Given the description of an element on the screen output the (x, y) to click on. 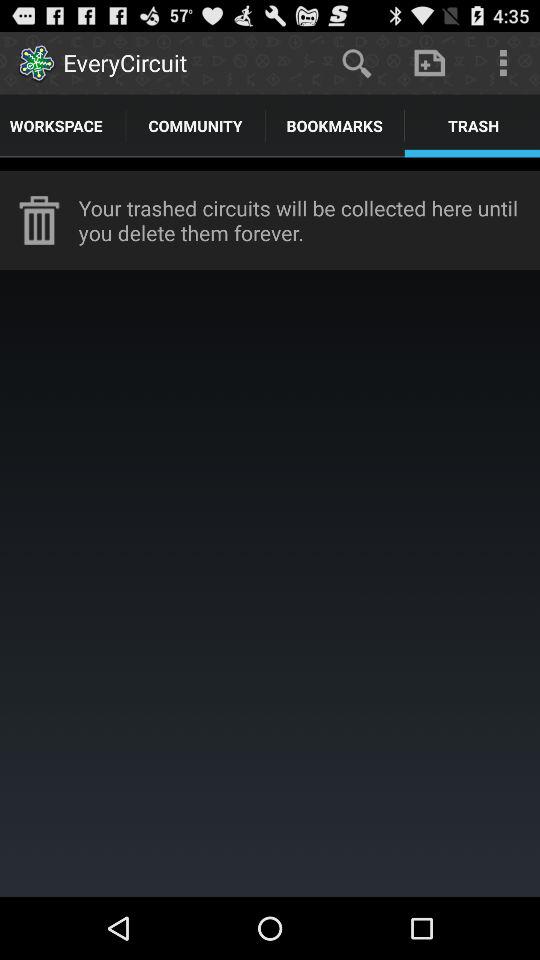
swipe until your trashed circuits icon (309, 220)
